Given the description of an element on the screen output the (x, y) to click on. 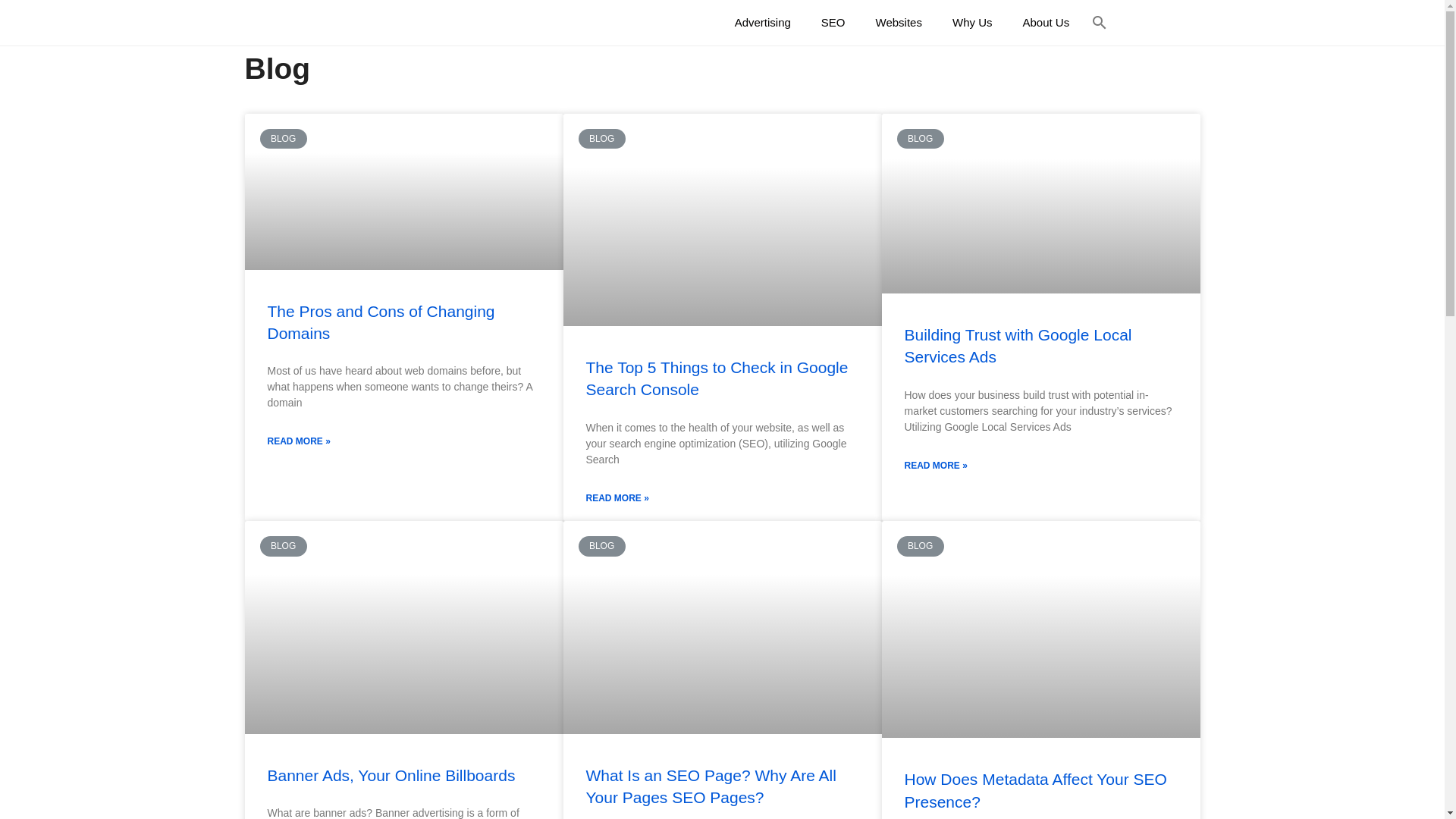
Building Trust with Google Local Services Ads Element type: text (1017, 345)
SEO Element type: text (833, 22)
Why Us Element type: text (972, 22)
How Does Metadata Affect Your SEO Presence? Element type: text (1034, 789)
The Pros and Cons of Changing Domains Element type: text (380, 322)
The Top 5 Things to Check in Google Search Console Element type: text (716, 378)
Websites Element type: text (898, 22)
Advertising Element type: text (762, 22)
About Us Element type: text (1045, 22)
Banner Ads, Your Online Billboards Element type: text (390, 775)
What Is an SEO Page? Why Are All Your Pages SEO Pages? Element type: text (710, 786)
